Given the description of an element on the screen output the (x, y) to click on. 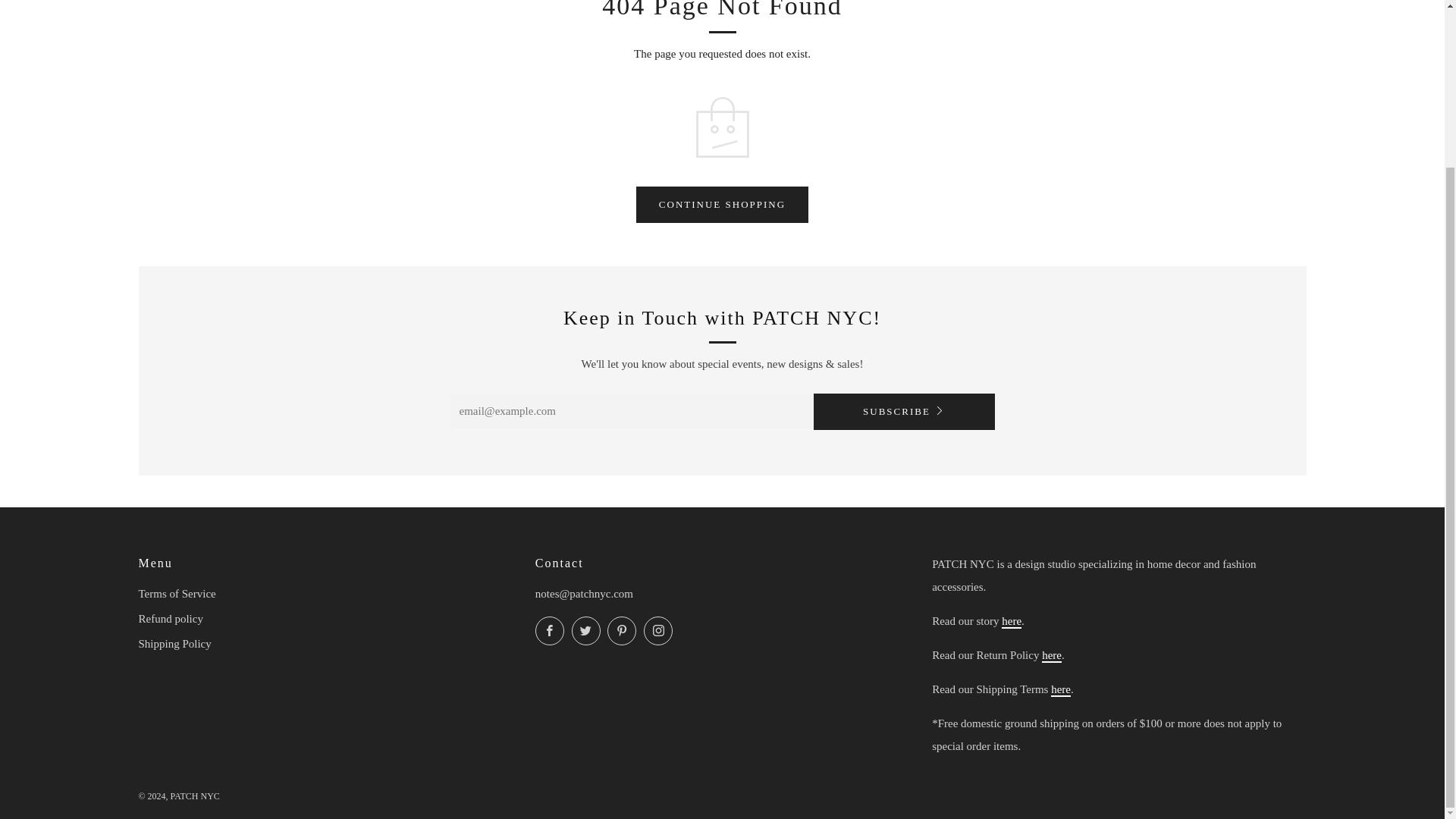
Refund Policy (1051, 655)
HISTORY (1011, 621)
Shipping Policy (1060, 689)
